Given the description of an element on the screen output the (x, y) to click on. 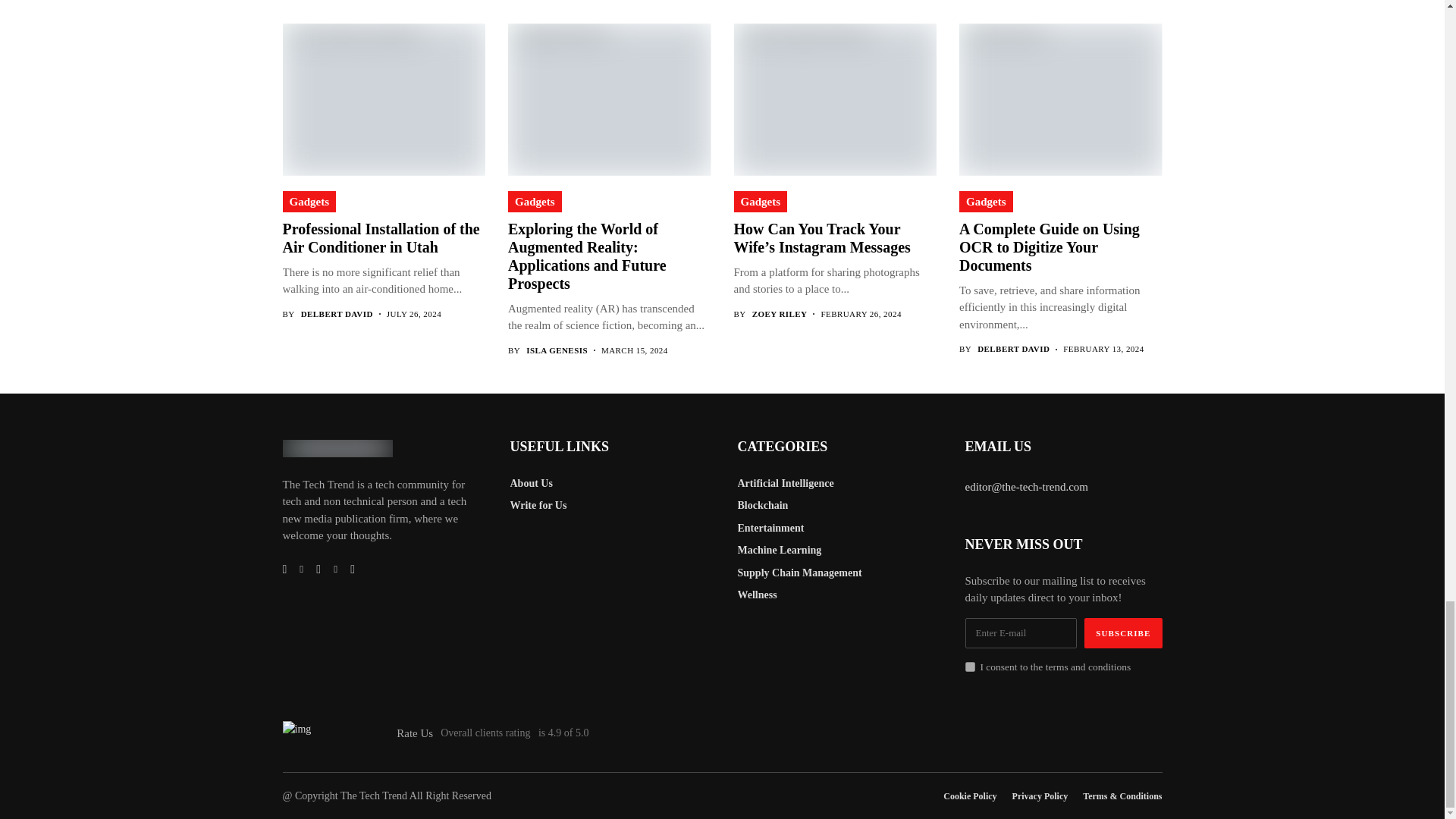
Posts by Delbert David (1012, 348)
Subscribe (1122, 633)
Posts by Isla Genesis (556, 350)
Posts by Zoey Riley (780, 314)
1 (968, 666)
Posts by Delbert David (336, 314)
